Given the description of an element on the screen output the (x, y) to click on. 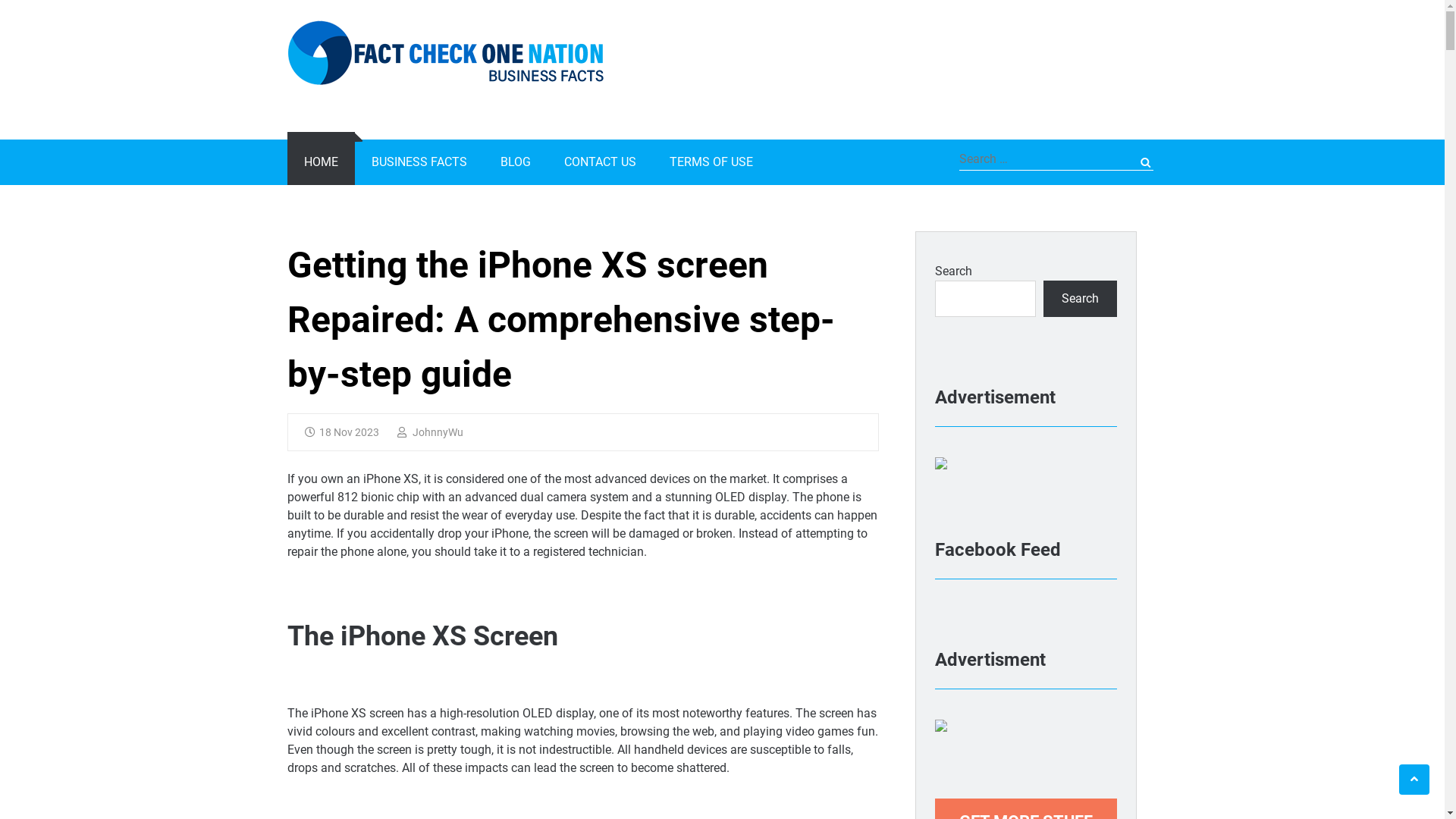
CONTACT US Element type: text (599, 162)
BUSINESS FACTS Element type: text (418, 162)
Search Element type: text (1080, 298)
Search Element type: text (1132, 162)
BLOG Element type: text (515, 162)
18 Nov 2023 Element type: text (341, 432)
HOME Element type: text (320, 162)
TERMS OF USE Element type: text (710, 162)
JohnnyWu Element type: text (430, 432)
